Given the description of an element on the screen output the (x, y) to click on. 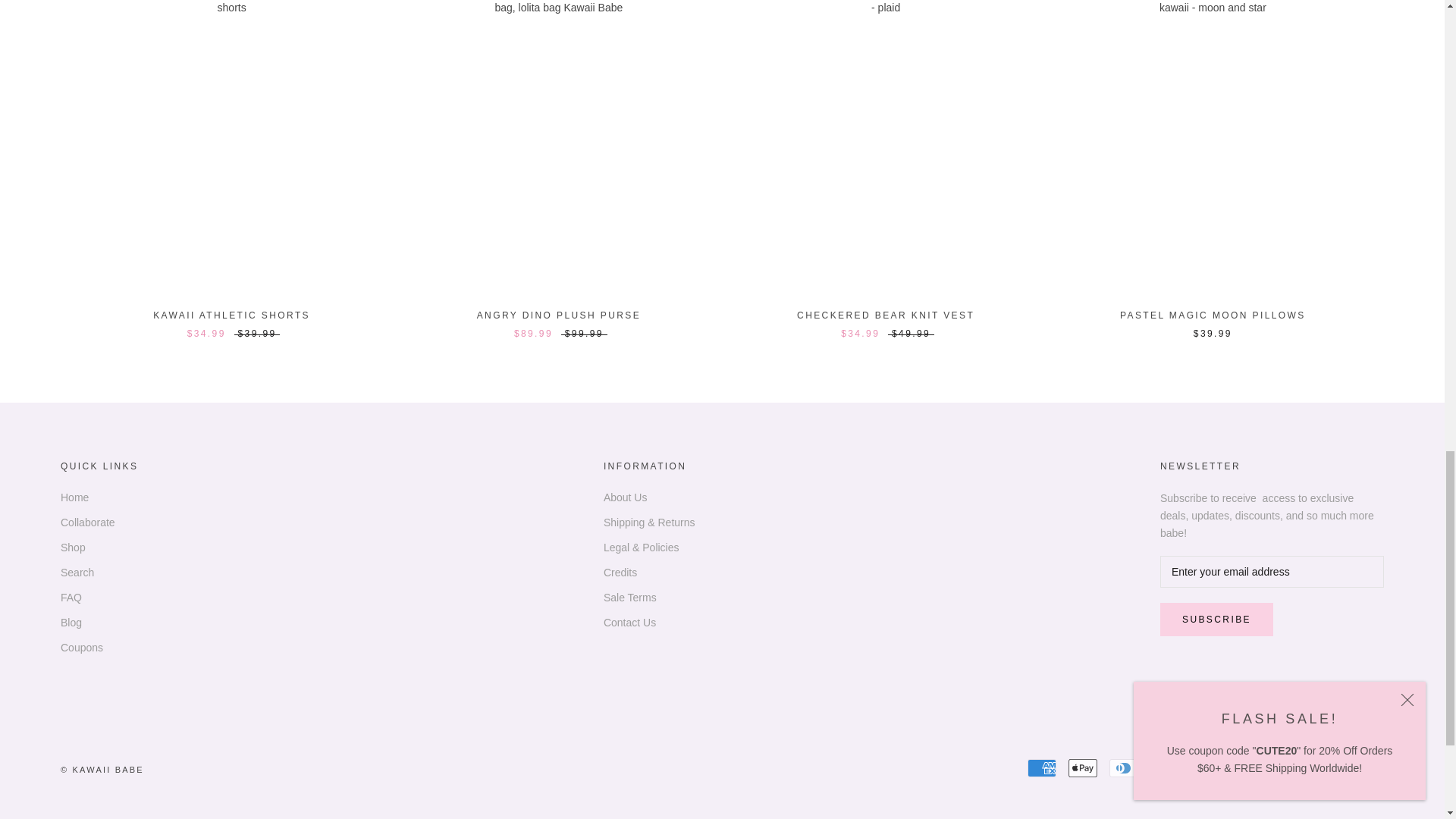
PayPal (1286, 768)
American Express (1042, 768)
Google Pay (1205, 768)
Shop Pay (1328, 768)
Visa (1369, 768)
Mastercard (1245, 768)
Diners Club (1123, 768)
Discover (1164, 768)
Apple Pay (1082, 768)
